Given the description of an element on the screen output the (x, y) to click on. 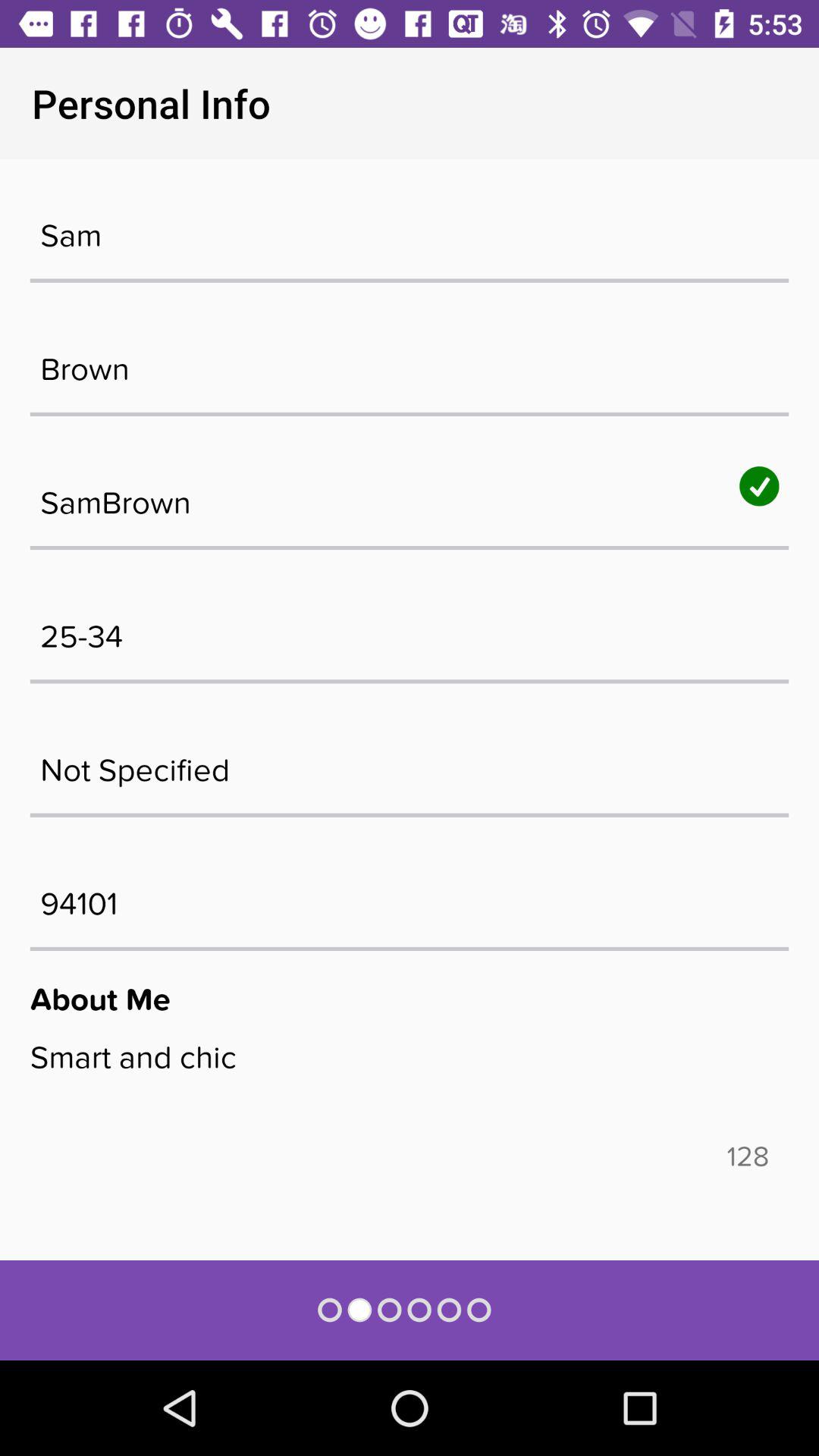
scroll until sambrown icon (409, 495)
